Given the description of an element on the screen output the (x, y) to click on. 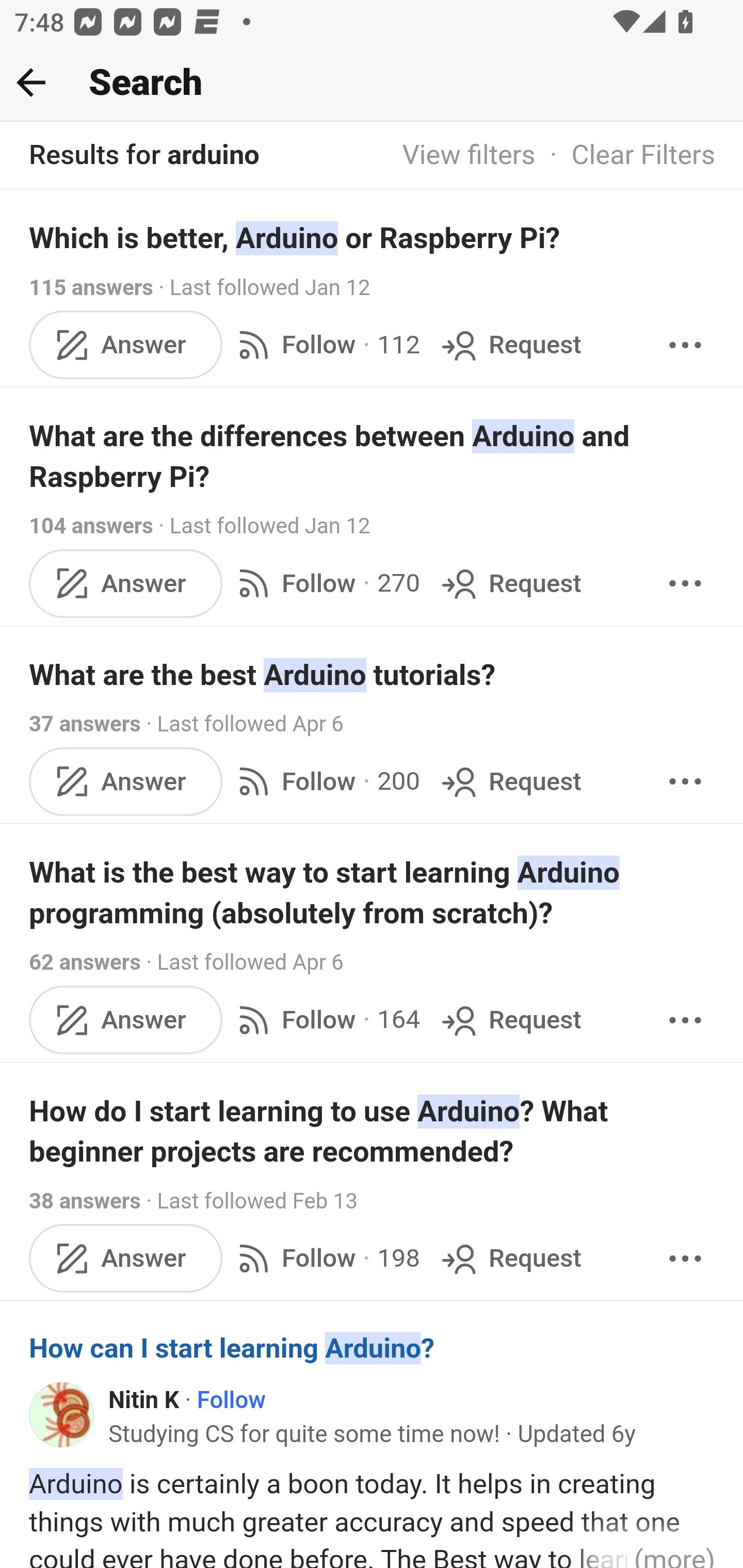
Back Search (371, 82)
Back (30, 82)
View filters (468, 155)
· Clear Filters · Clear Filters (625, 155)
Which is better, Arduino or Raspberry Pi? (372, 237)
115 answers 115  answers (90, 287)
Answer (125, 343)
Follow · 112 (324, 343)
Request (509, 343)
More (684, 343)
104 answers 104  answers (90, 525)
Answer (125, 582)
Follow · 270 (324, 582)
Request (509, 582)
More (684, 582)
What are the best Arduino tutorials? (372, 674)
37 answers 37  answers (84, 723)
Answer (125, 781)
Follow · 200 (324, 781)
Request (509, 781)
More (684, 781)
62 answers 62  answers (84, 962)
Answer (125, 1019)
Follow · 164 (324, 1019)
Request (509, 1019)
More (684, 1019)
38 answers 38  answers (84, 1200)
Answer (125, 1258)
Follow · 198 (324, 1258)
Request (509, 1258)
More (684, 1258)
How can I start learning Arduino? (372, 1348)
Profile photo for Nitin K (61, 1414)
Nitin K (144, 1399)
Follow (230, 1399)
Updated 6y Updated  6 y (576, 1433)
